Given the description of an element on the screen output the (x, y) to click on. 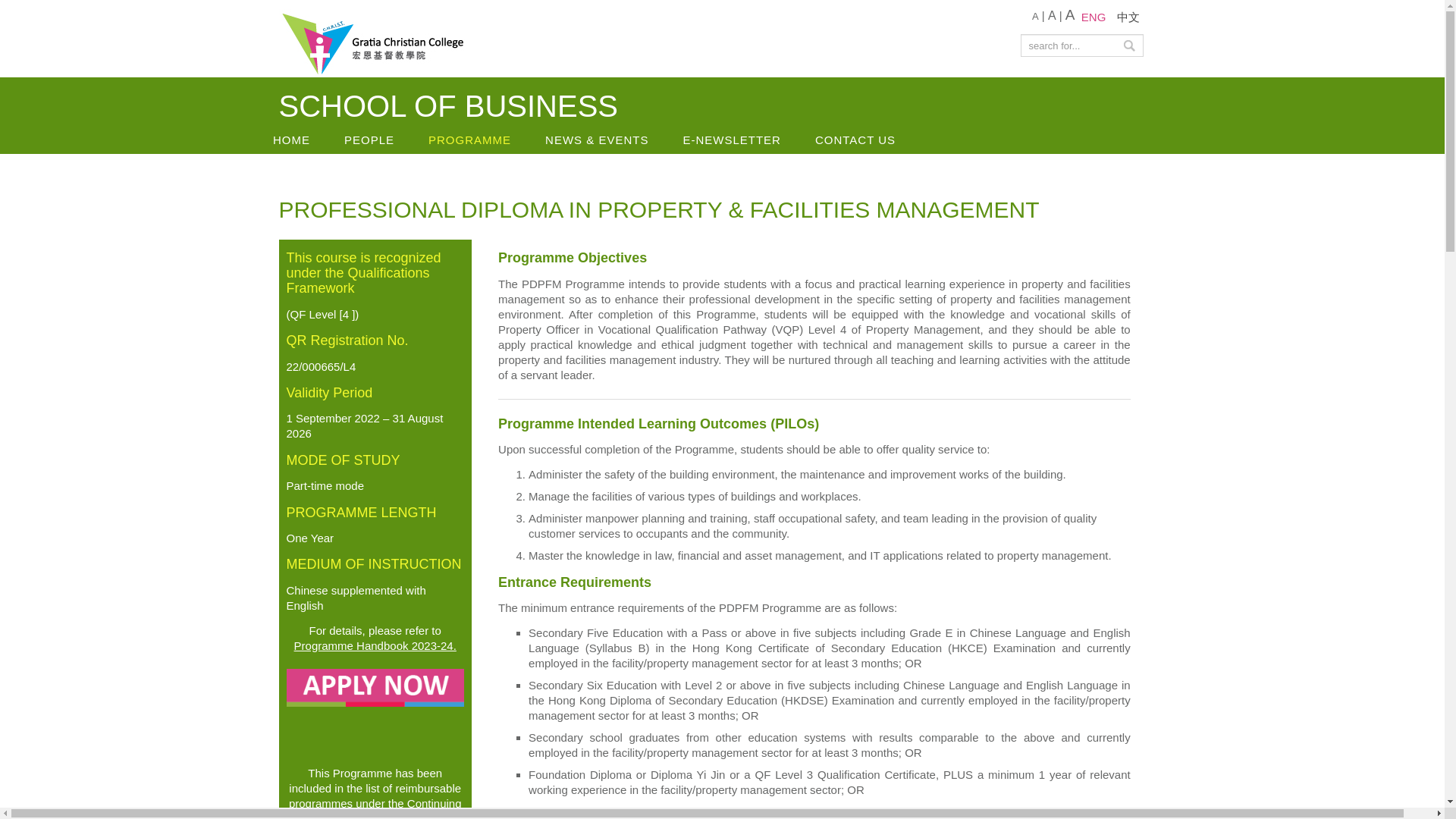
E-NEWSLETTER (732, 139)
ENG (1093, 16)
CONTACT US (855, 139)
Programme Handbook 2023-24. (375, 645)
School of Business (373, 42)
PEOPLE (367, 139)
PROGRAMME (469, 139)
HOME (290, 139)
